Given the description of an element on the screen output the (x, y) to click on. 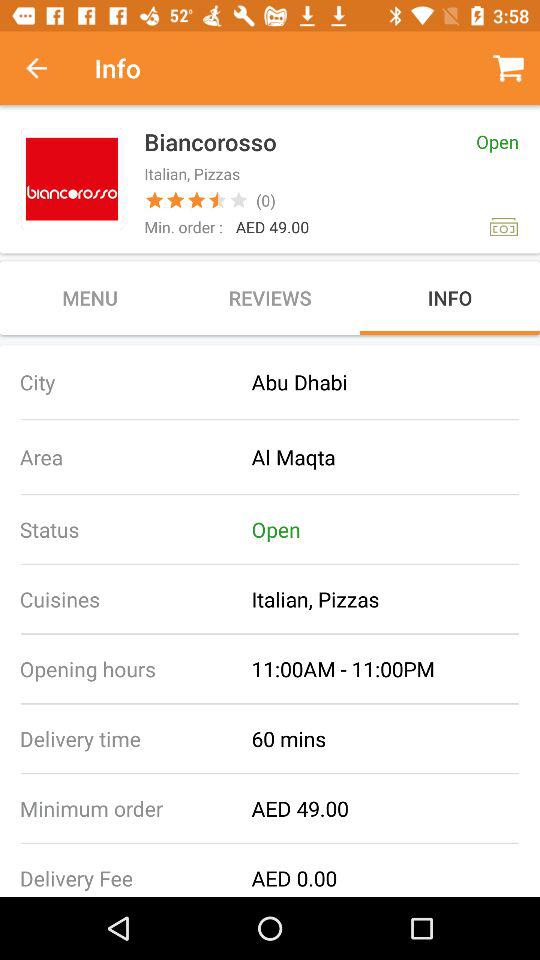
go back (47, 68)
